Given the description of an element on the screen output the (x, y) to click on. 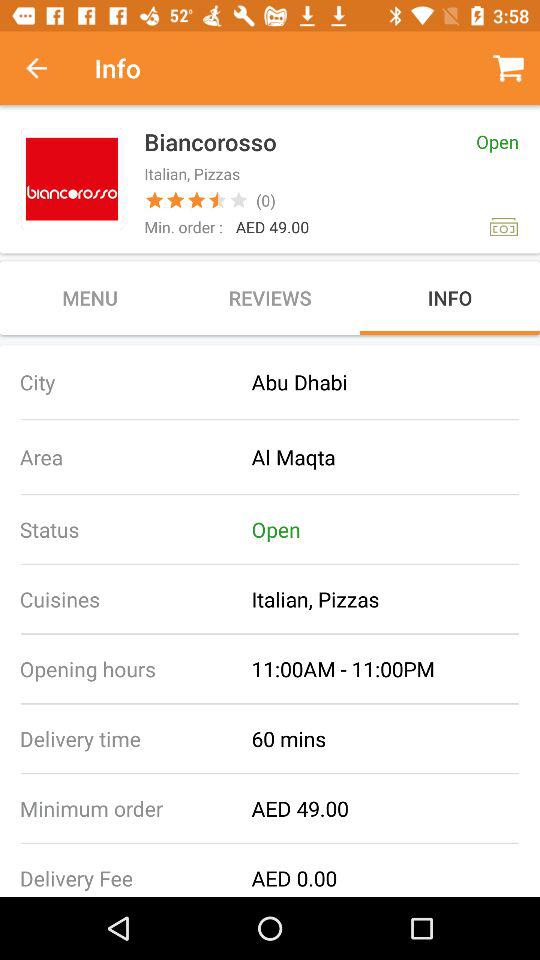
go back (47, 68)
